Given the description of an element on the screen output the (x, y) to click on. 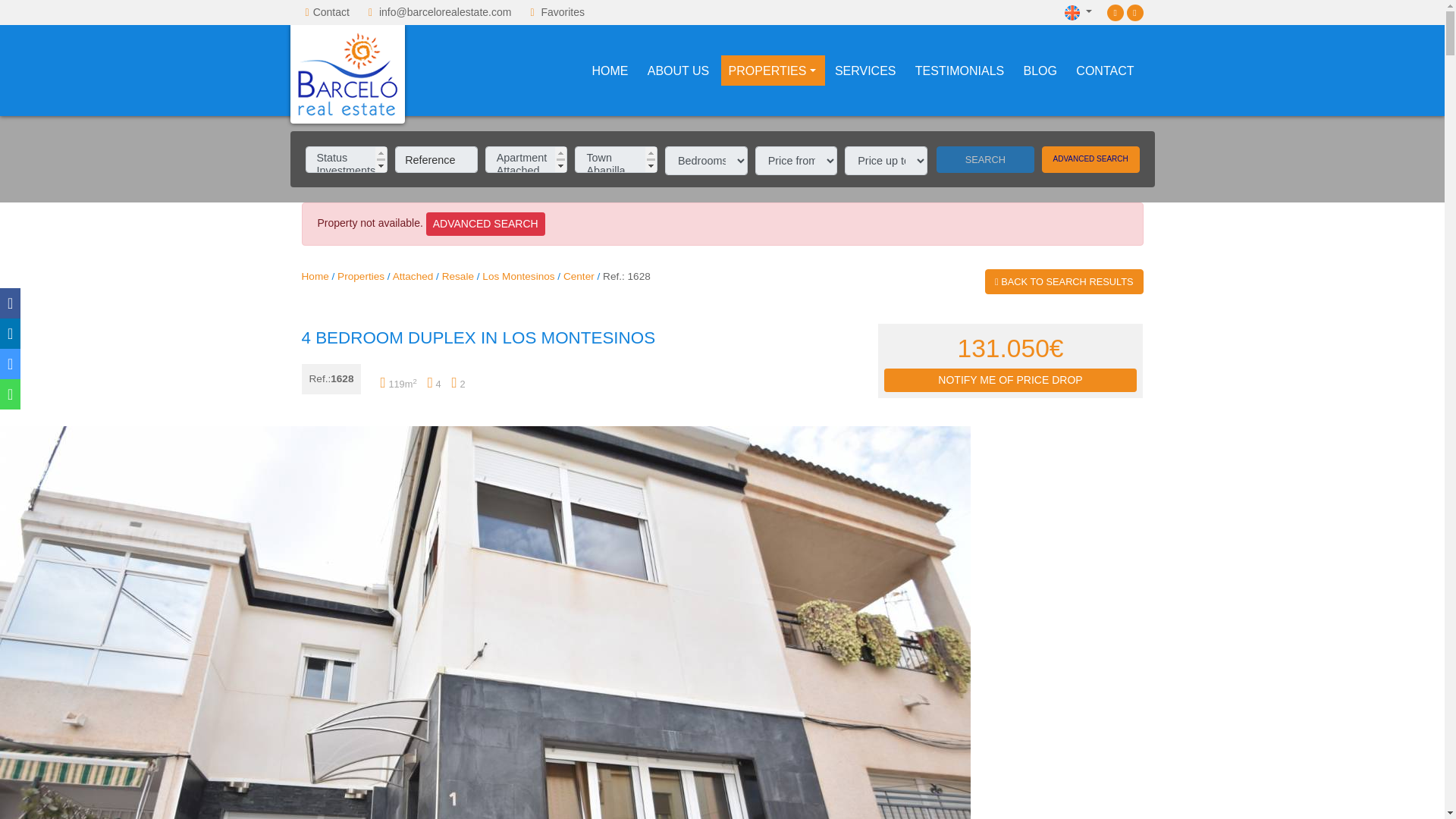
ADVANCED SEARCH (1091, 159)
BLOG (1039, 70)
Instagram (1134, 11)
SERVICES (865, 70)
PROPERTIES (772, 70)
SEARCH (984, 159)
Favorites (562, 11)
ABOUT US (679, 70)
ADVANCED SEARCH (485, 223)
CONTACT (1104, 70)
Contact (331, 11)
TESTIMONIALS (959, 70)
Facebook (1115, 11)
HOME (609, 70)
